Given the description of an element on the screen output the (x, y) to click on. 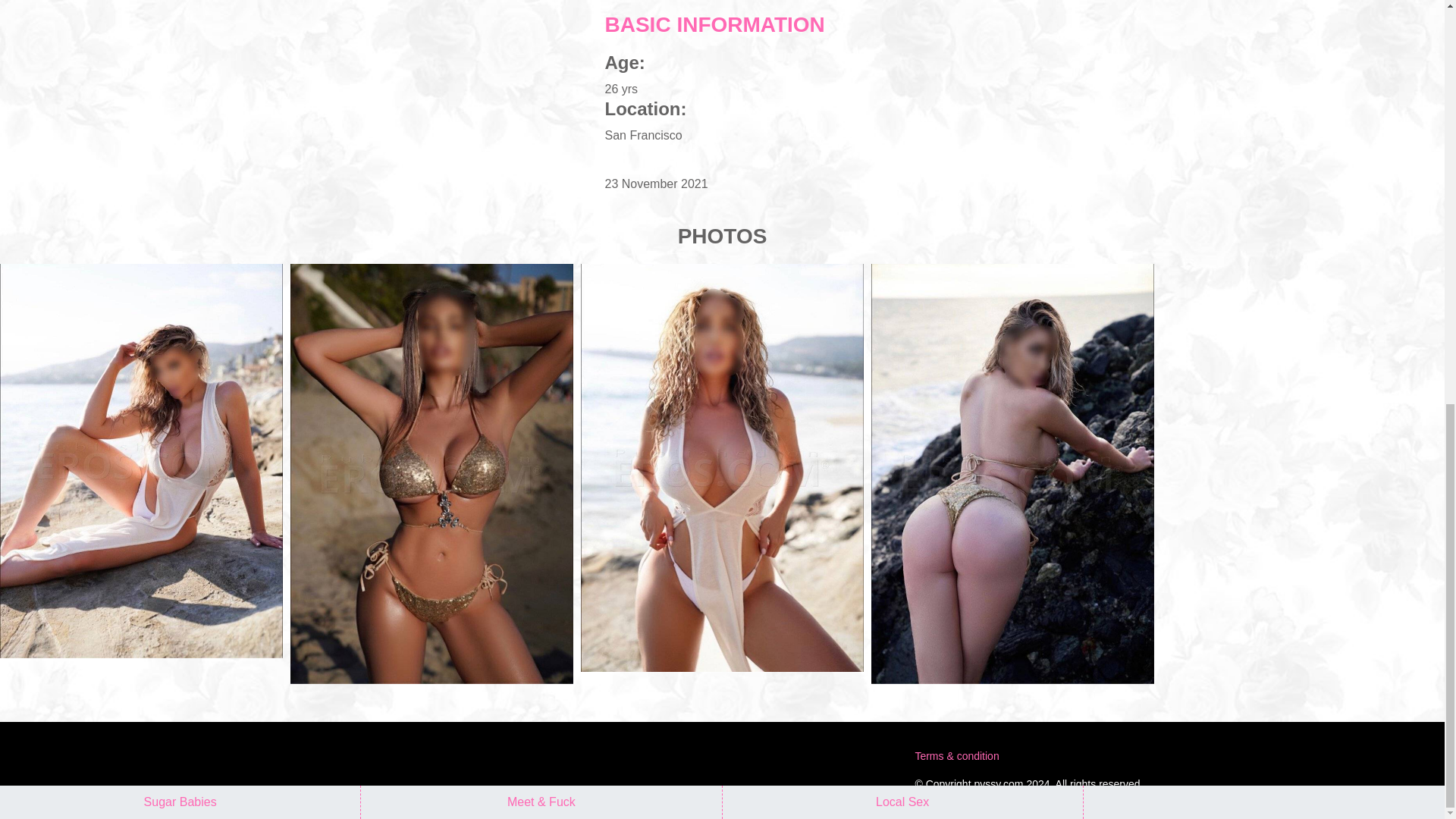
Sugar Babies (180, 6)
Local Sex (902, 6)
